Given the description of an element on the screen output the (x, y) to click on. 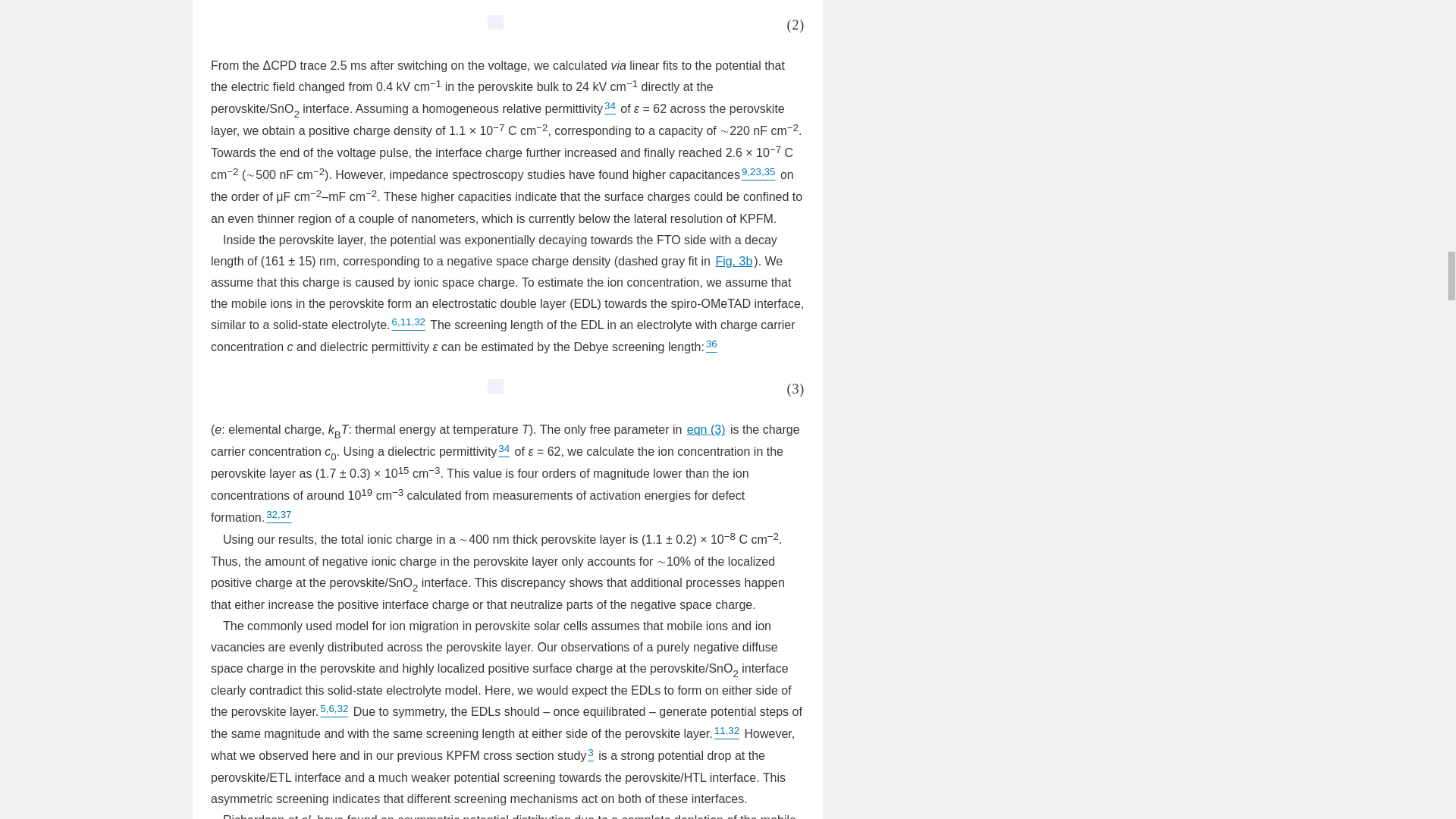
Select to open image in new window (489, 388)
Select to open image in new window (489, 24)
